Given the description of an element on the screen output the (x, y) to click on. 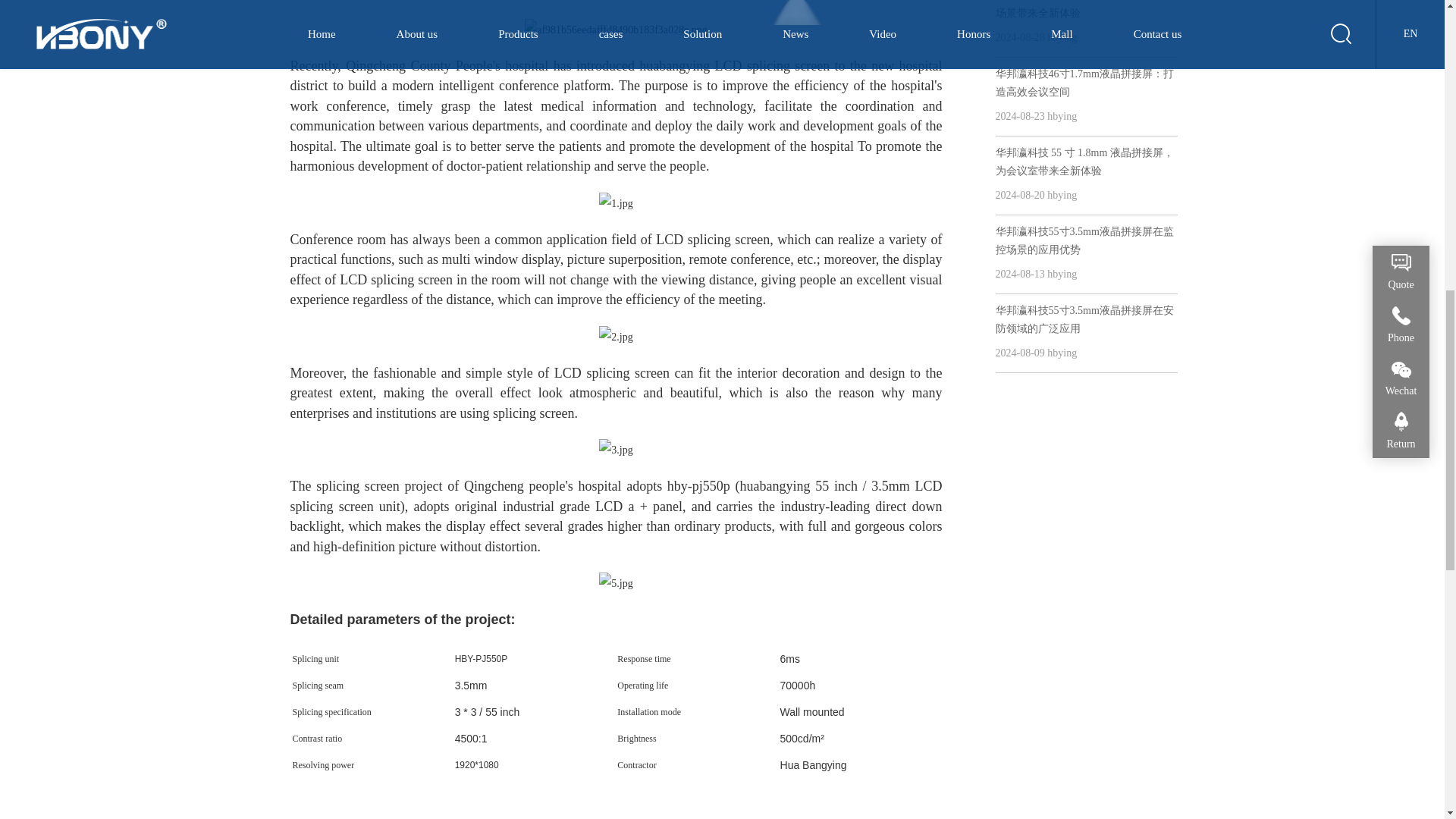
1.jpg (614, 203)
3.jpg (614, 449)
2.jpg (614, 336)
af981b56eedafffd8490b183f3a028e.png (615, 29)
5.jpg (614, 583)
